Given the description of an element on the screen output the (x, y) to click on. 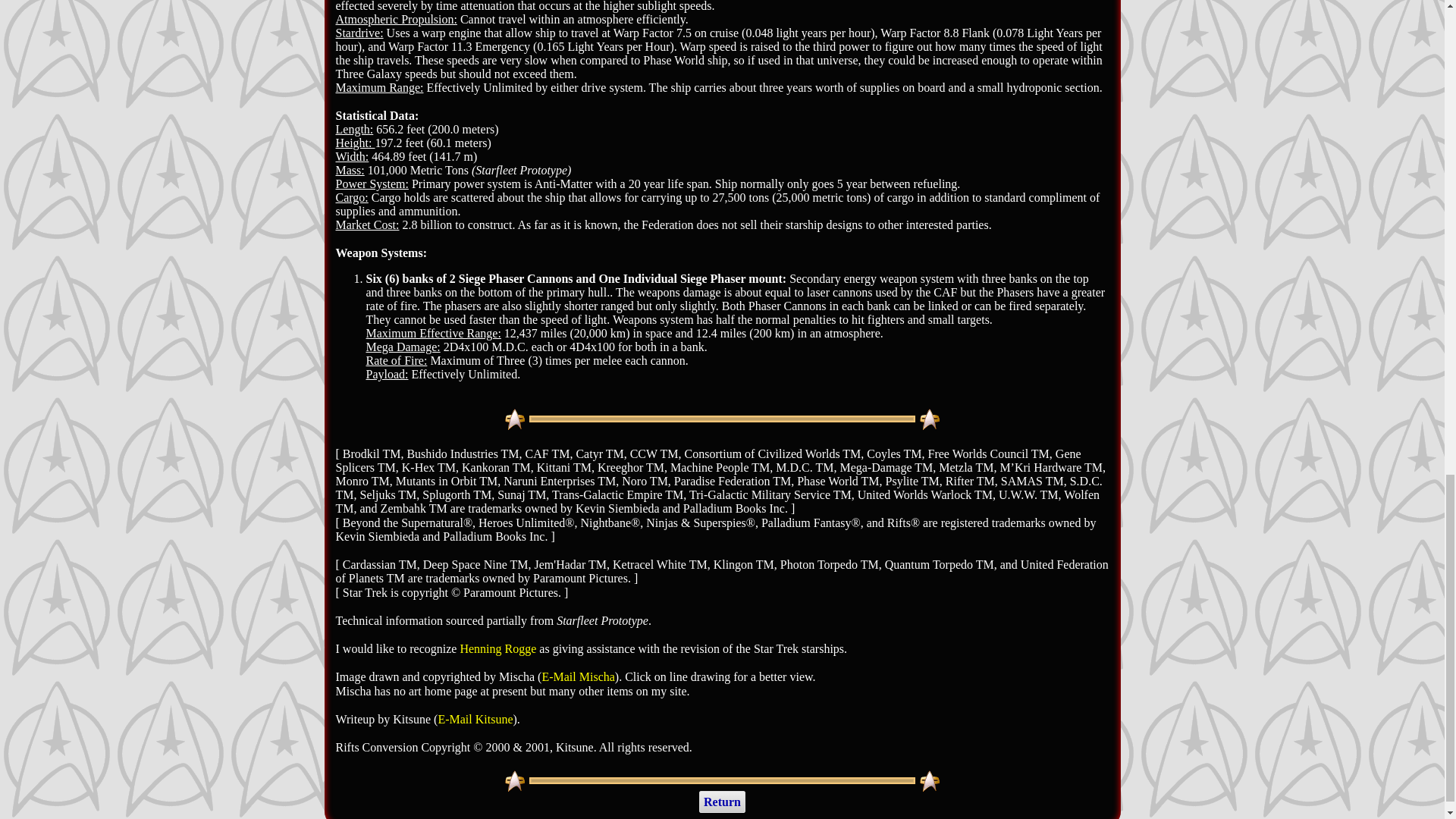
Henning Rogge (497, 648)
Return (721, 802)
E-Mail Mischa (577, 676)
E-Mail Kitsune (475, 718)
